Given the description of an element on the screen output the (x, y) to click on. 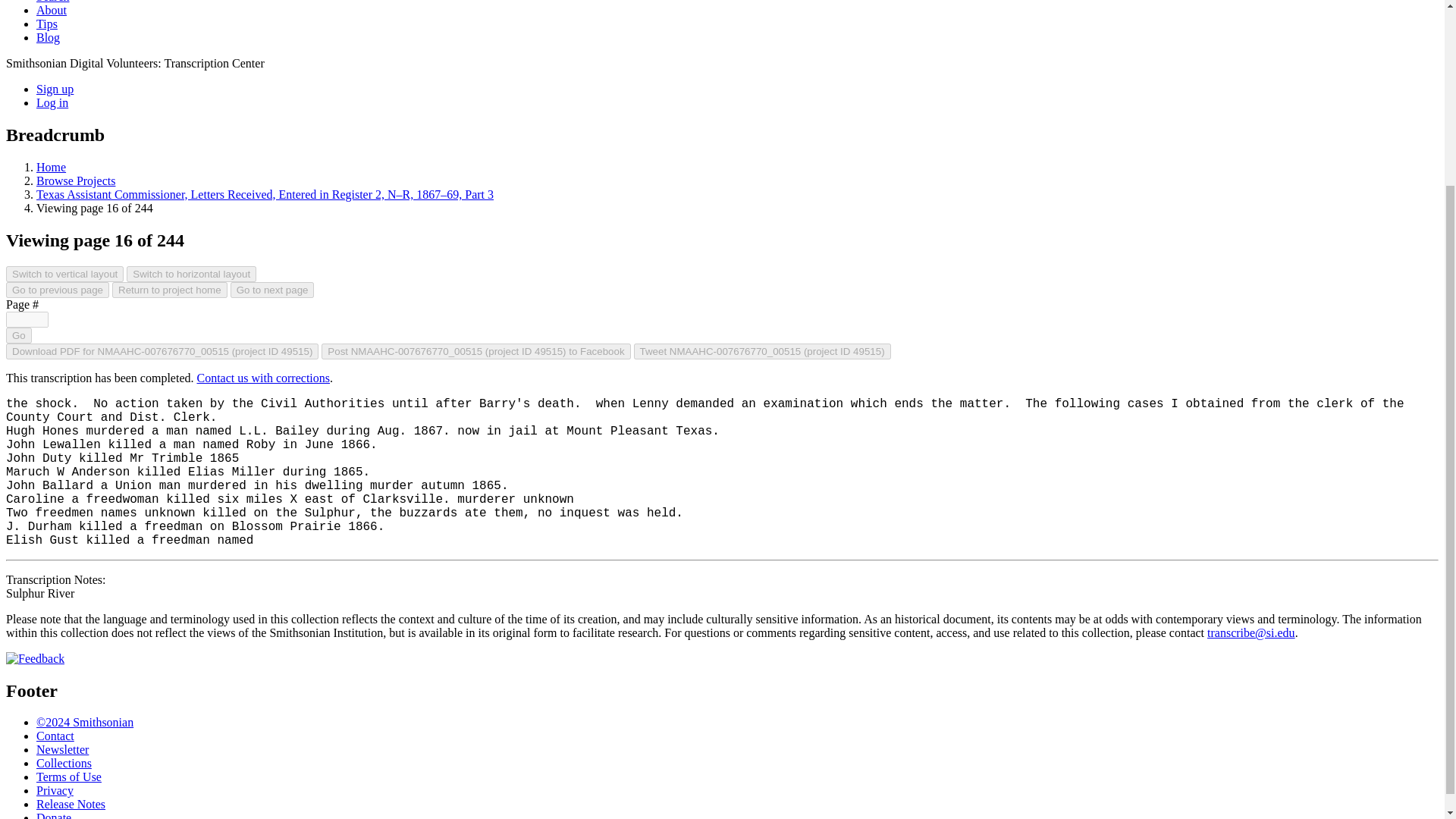
Switch to horizontal layout (191, 273)
Go (18, 335)
Blog (47, 37)
Newsletter (62, 748)
Go to next page (272, 289)
Sign up (55, 88)
Switch to vertical layout (64, 273)
Browse Projects (75, 180)
Contact (55, 735)
Contact us with corrections (263, 377)
Log in (52, 102)
Go to previous page (57, 289)
About (51, 10)
Home (50, 166)
Terms of Use (68, 776)
